Given the description of an element on the screen output the (x, y) to click on. 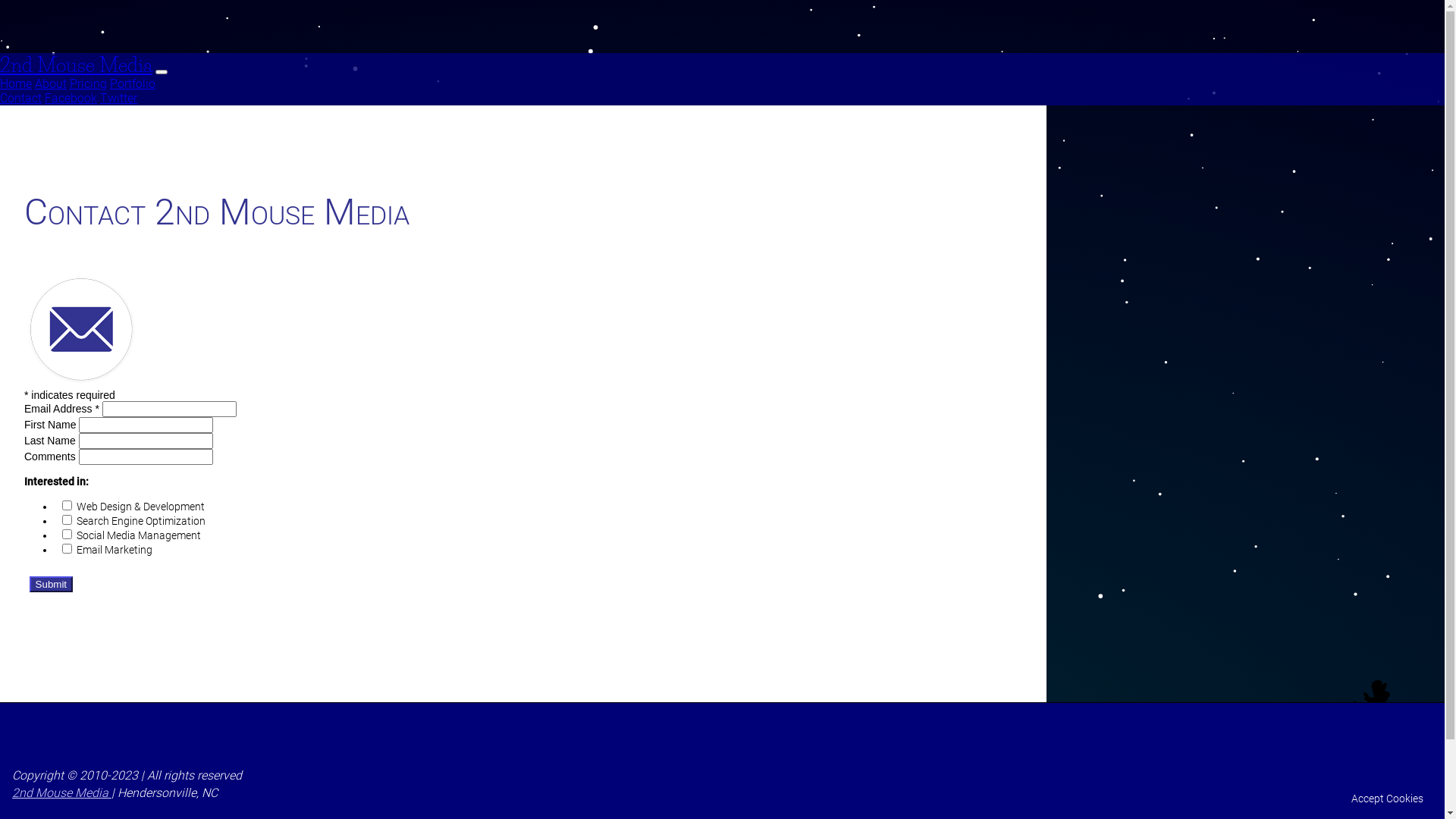
Facebook Element type: text (70, 98)
Twitter Element type: text (118, 98)
Pricing Element type: text (87, 83)
About Element type: text (50, 83)
Contact Element type: text (20, 98)
2nd Mouse Media Element type: text (61, 792)
Submit Element type: text (50, 584)
Home Element type: text (15, 83)
2nd Mouse Media Element type: text (76, 64)
Portfolio Element type: text (132, 83)
